Given the description of an element on the screen output the (x, y) to click on. 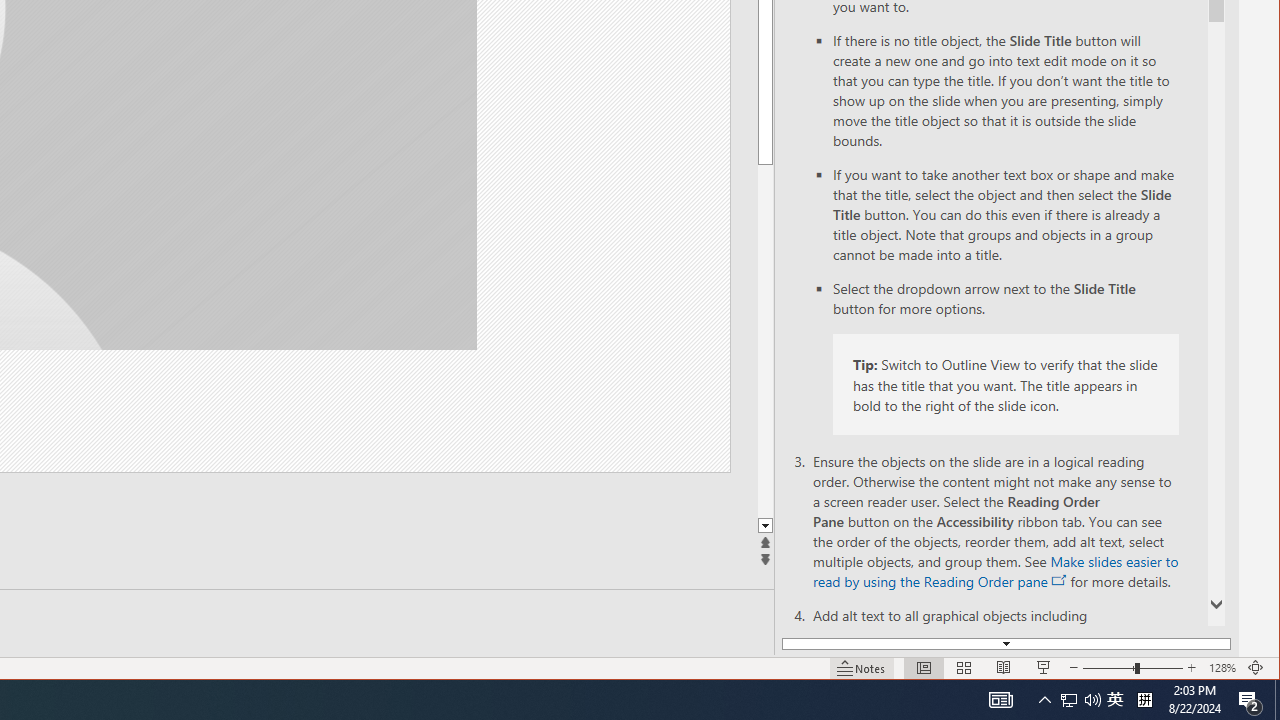
Tray Input Indicator - Chinese (Simplified, China) (1144, 699)
openinnewwindow (1059, 580)
Line down (765, 525)
Q2790: 100% (1092, 699)
Notification Chevron (1044, 699)
